Given the description of an element on the screen output the (x, y) to click on. 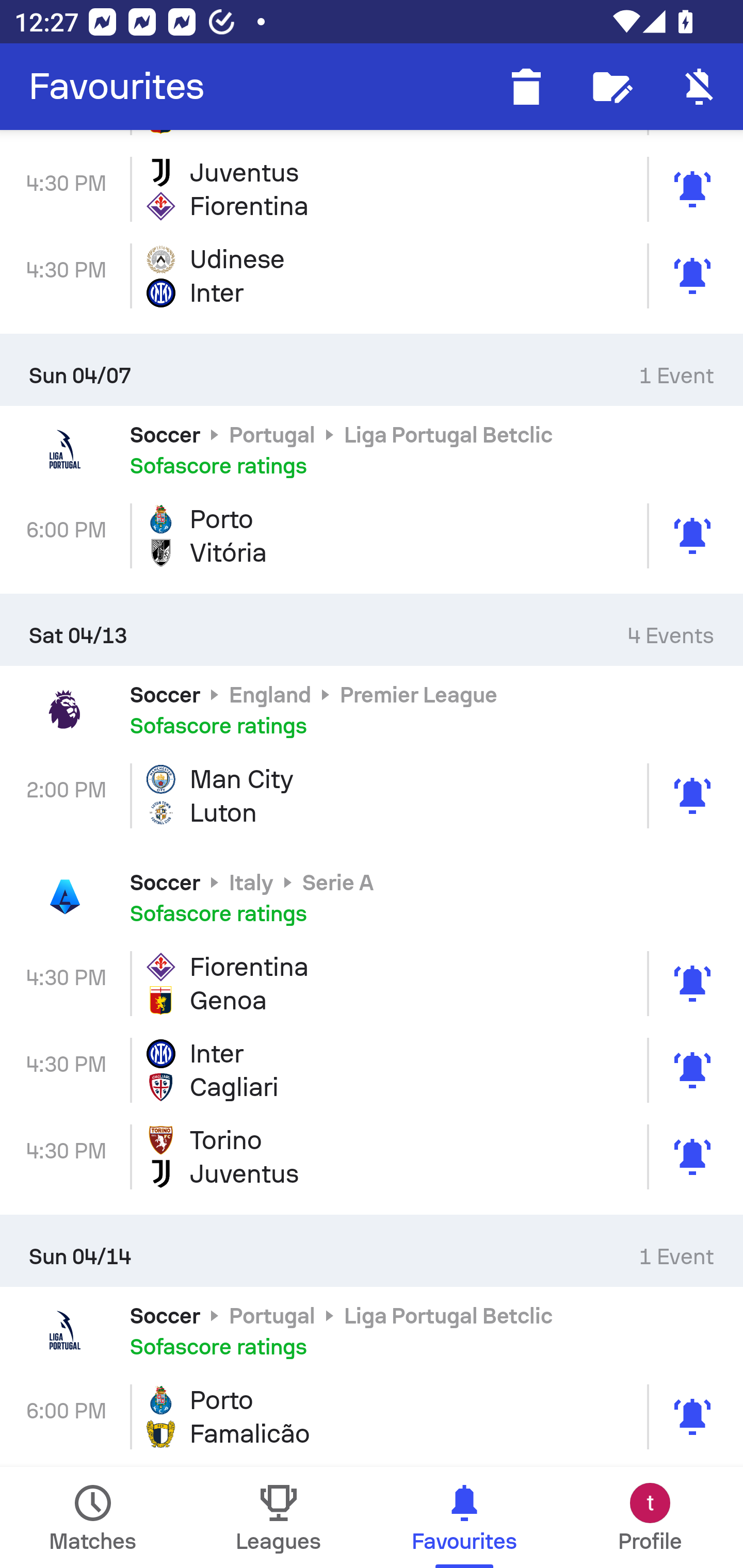
Favourites (116, 86)
Delete finished (525, 86)
Follow editor (612, 86)
Enable notifications (699, 86)
4:30 PM Juventus Fiorentina (371, 188)
4:30 PM Udinese Inter (371, 275)
Sun 04/07 1 Event (371, 369)
6:00 PM Porto Vitória (371, 535)
Sat 04/13 4 Events (371, 630)
Soccer England Premier League Sofascore ratings (371, 709)
2:00 PM Man City Luton (371, 795)
Soccer Italy Serie A Sofascore ratings (371, 896)
4:30 PM Fiorentina Genoa (371, 983)
4:30 PM Inter Cagliari (371, 1070)
4:30 PM Torino Juventus (371, 1156)
Sun 04/14 1 Event (371, 1251)
6:00 PM Porto Famalicão (371, 1416)
Matches (92, 1517)
Leagues (278, 1517)
Profile (650, 1517)
